Given the description of an element on the screen output the (x, y) to click on. 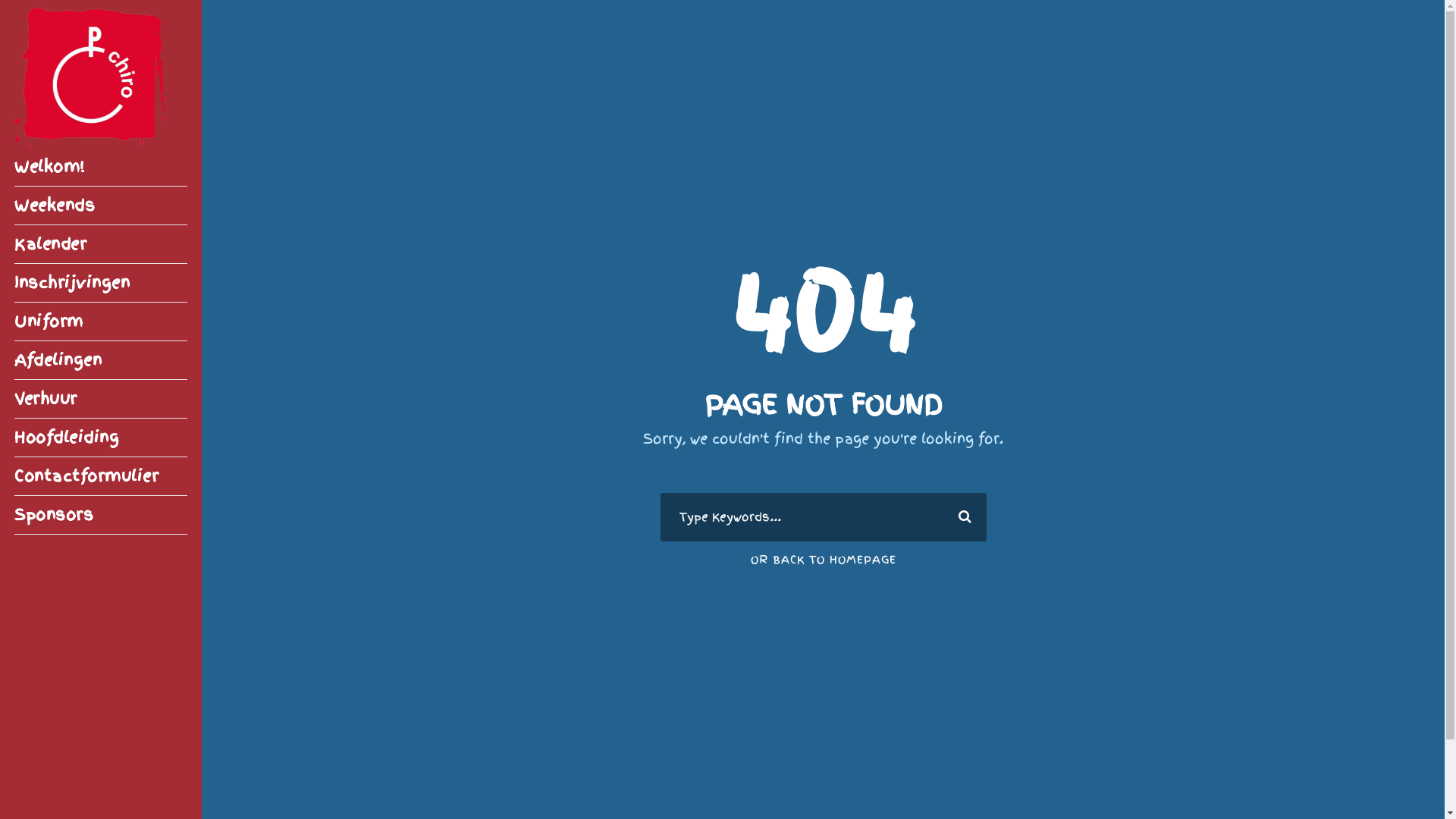
Inschrijvingen Element type: text (100, 282)
Sponsors Element type: text (100, 514)
Search Element type: text (960, 516)
Uniform Element type: text (100, 321)
Verhuur Element type: text (100, 398)
Weekends Element type: text (100, 205)
Hoofdleiding Element type: text (100, 437)
Contactformulier Element type: text (100, 475)
Kalender Element type: text (100, 243)
Afdelingen Element type: text (100, 359)
Welkom! Element type: text (100, 166)
OR BACK TO HOMEPAGE Element type: text (823, 559)
